Given the description of an element on the screen output the (x, y) to click on. 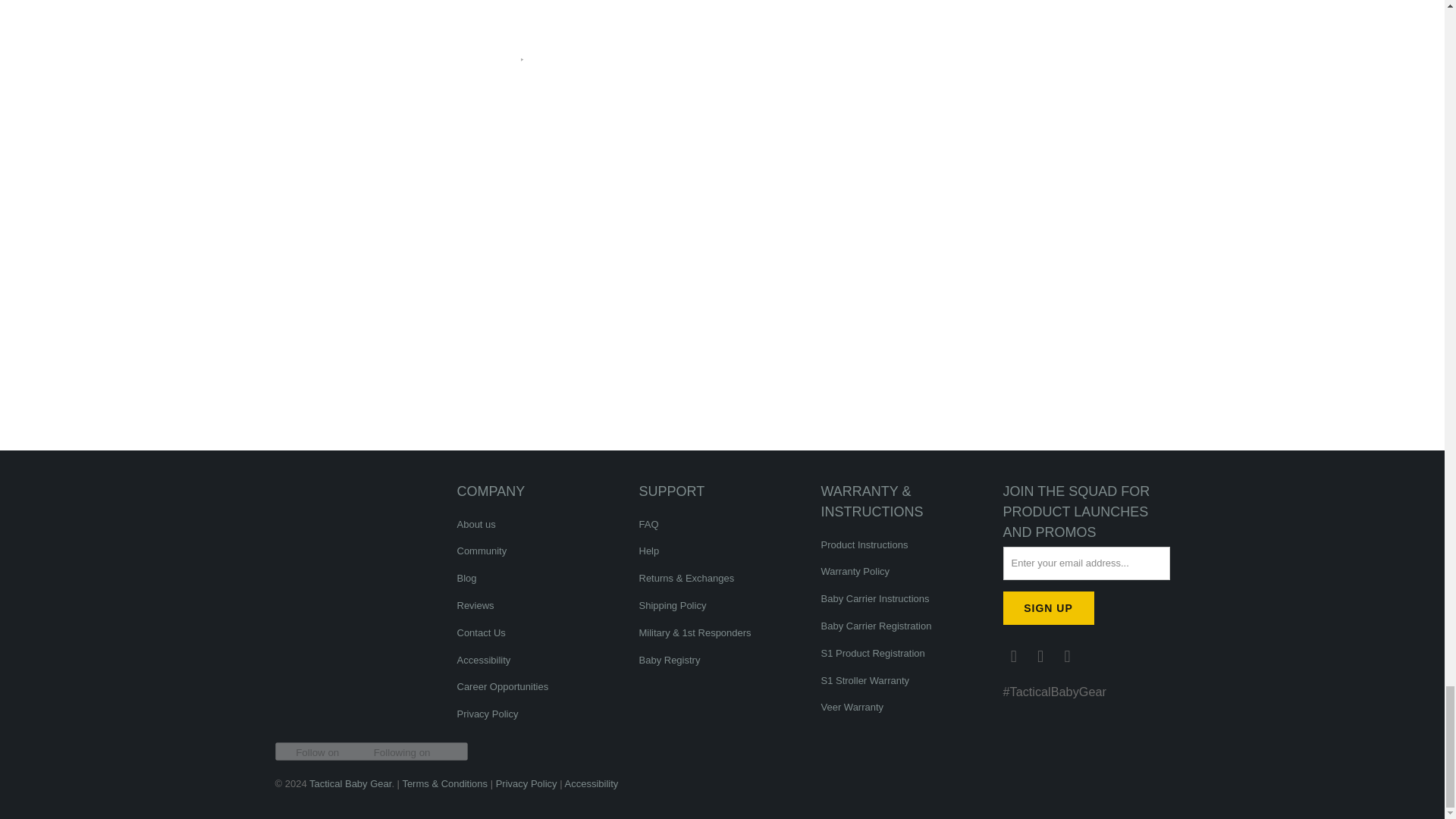
Sign Up (1048, 608)
Tactical Baby Gear on Instagram (1040, 656)
Tactical Baby Gear on Facebook (1014, 656)
Enter your email address (1086, 563)
YouTube video player (380, 388)
Tactical Baby Gear on YouTube (1067, 656)
